Given the description of an element on the screen output the (x, y) to click on. 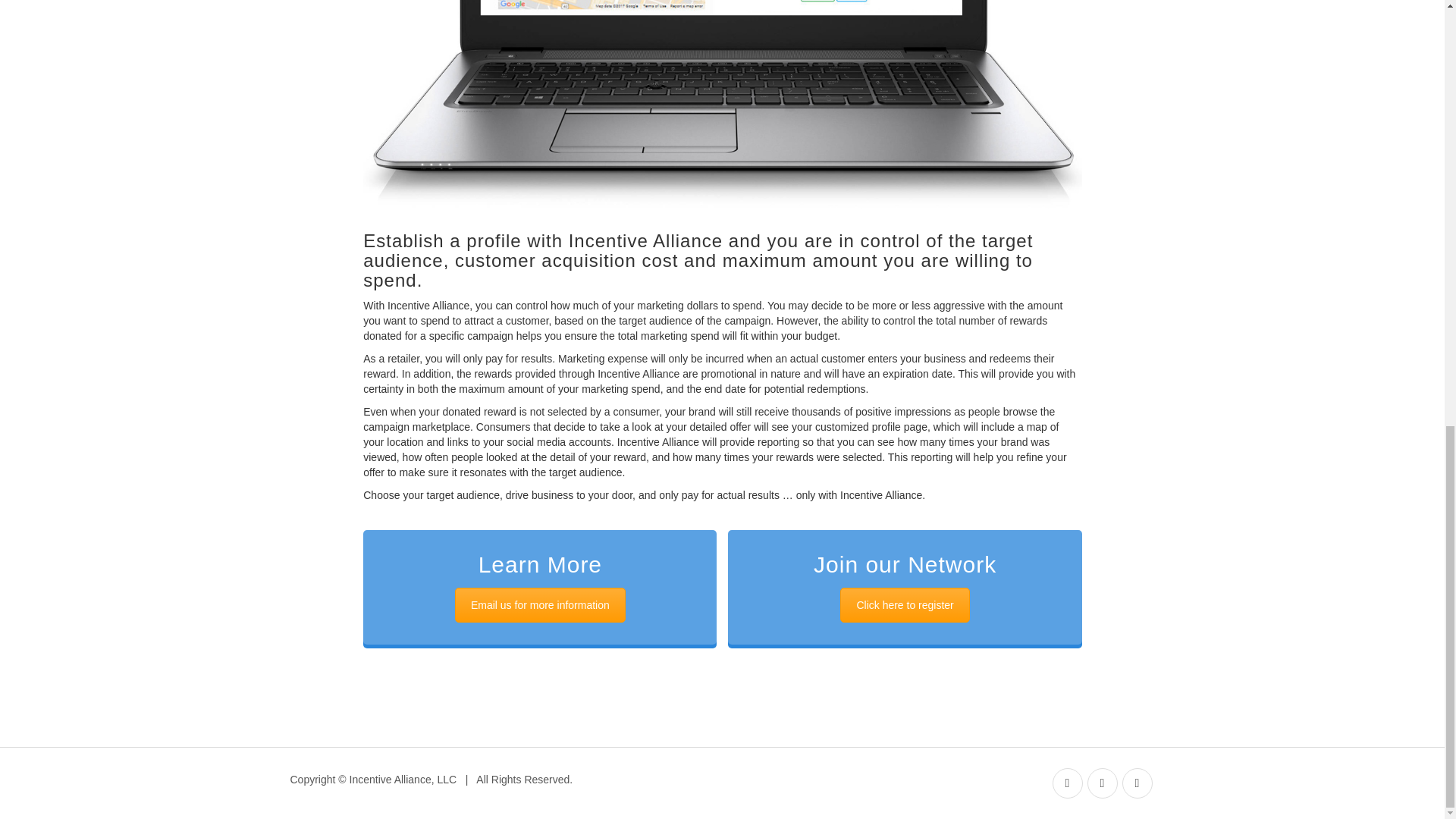
Google-plus (1137, 783)
Email us for more information (540, 605)
Twitter (1102, 783)
Facebook (1067, 783)
Click here to register (904, 605)
